Given the description of an element on the screen output the (x, y) to click on. 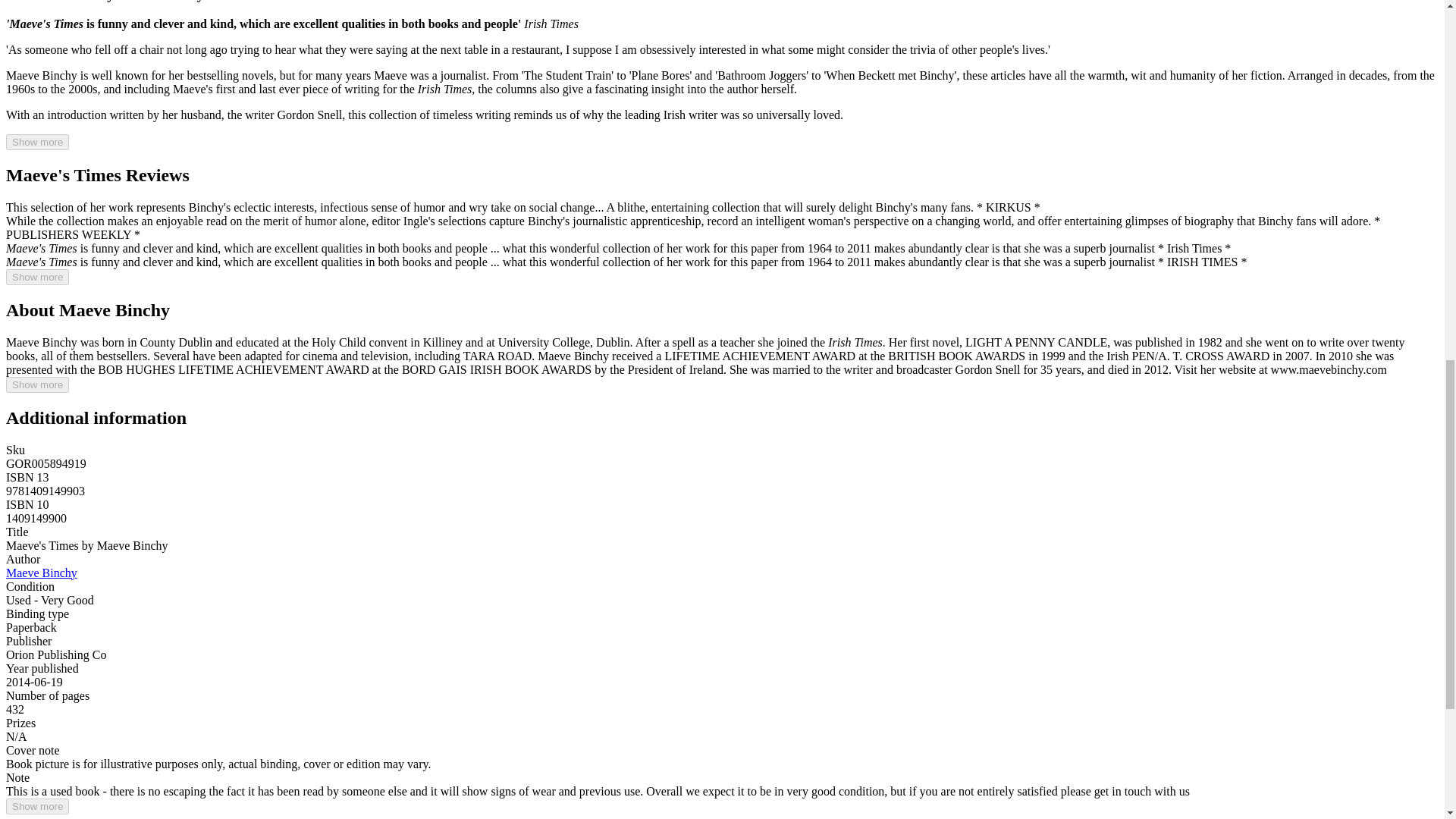
Show more (36, 384)
Show more (36, 277)
Maeve Binchy (41, 572)
Show more (36, 141)
Show more (36, 806)
